Given the description of an element on the screen output the (x, y) to click on. 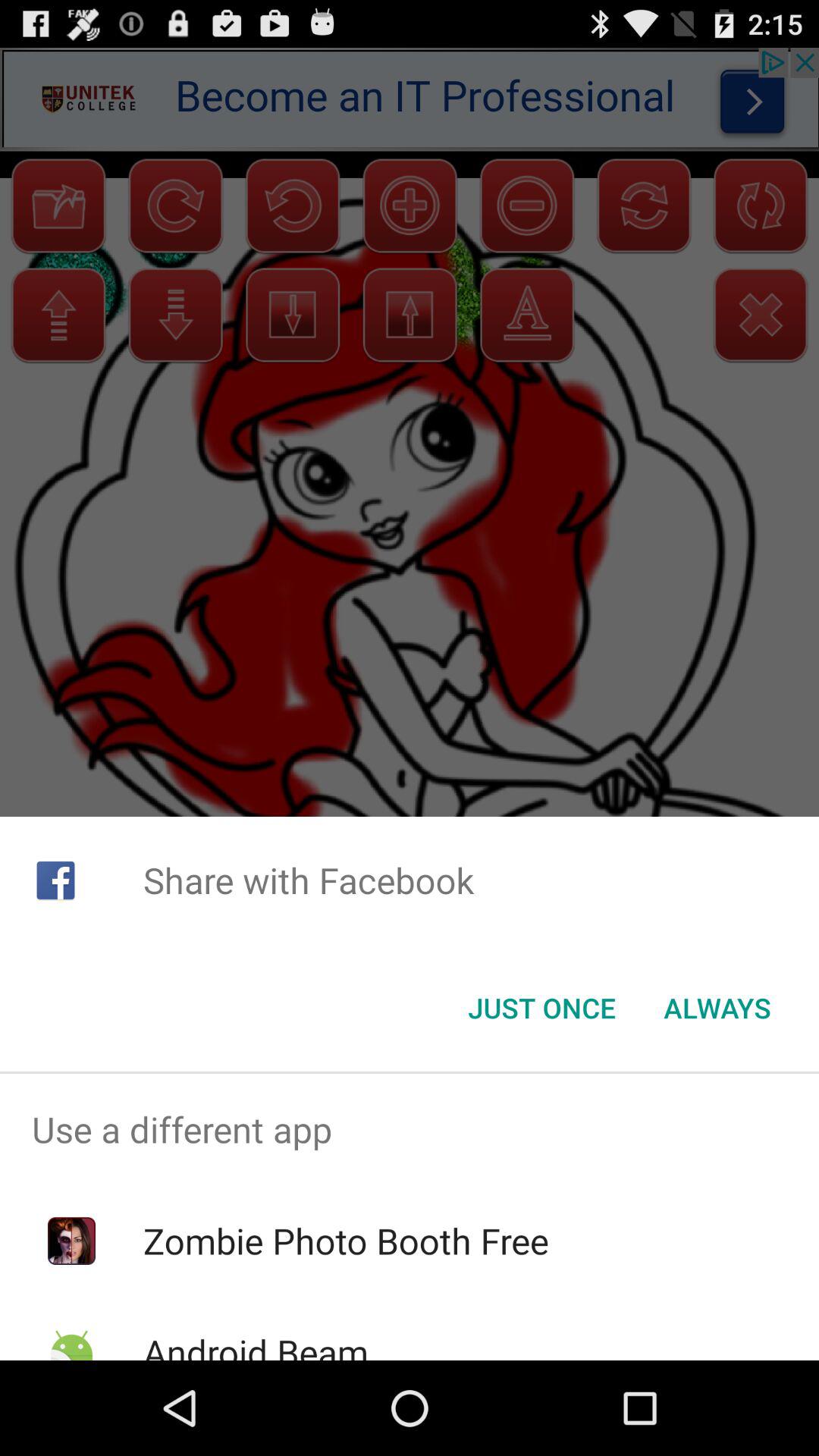
choose item below the zombie photo booth item (255, 1344)
